Given the description of an element on the screen output the (x, y) to click on. 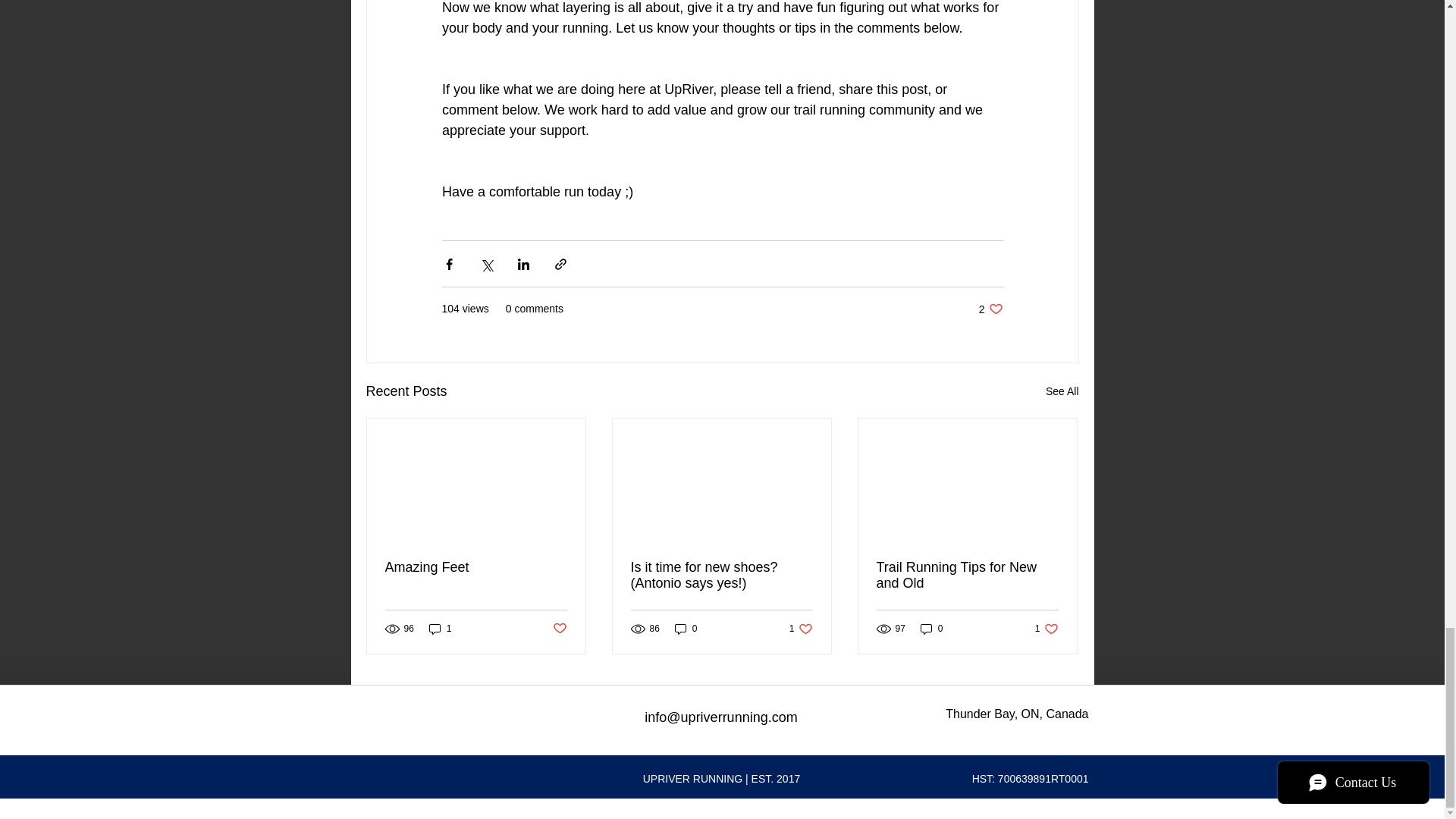
See All (990, 309)
Amazing Feet (1061, 391)
